Given the description of an element on the screen output the (x, y) to click on. 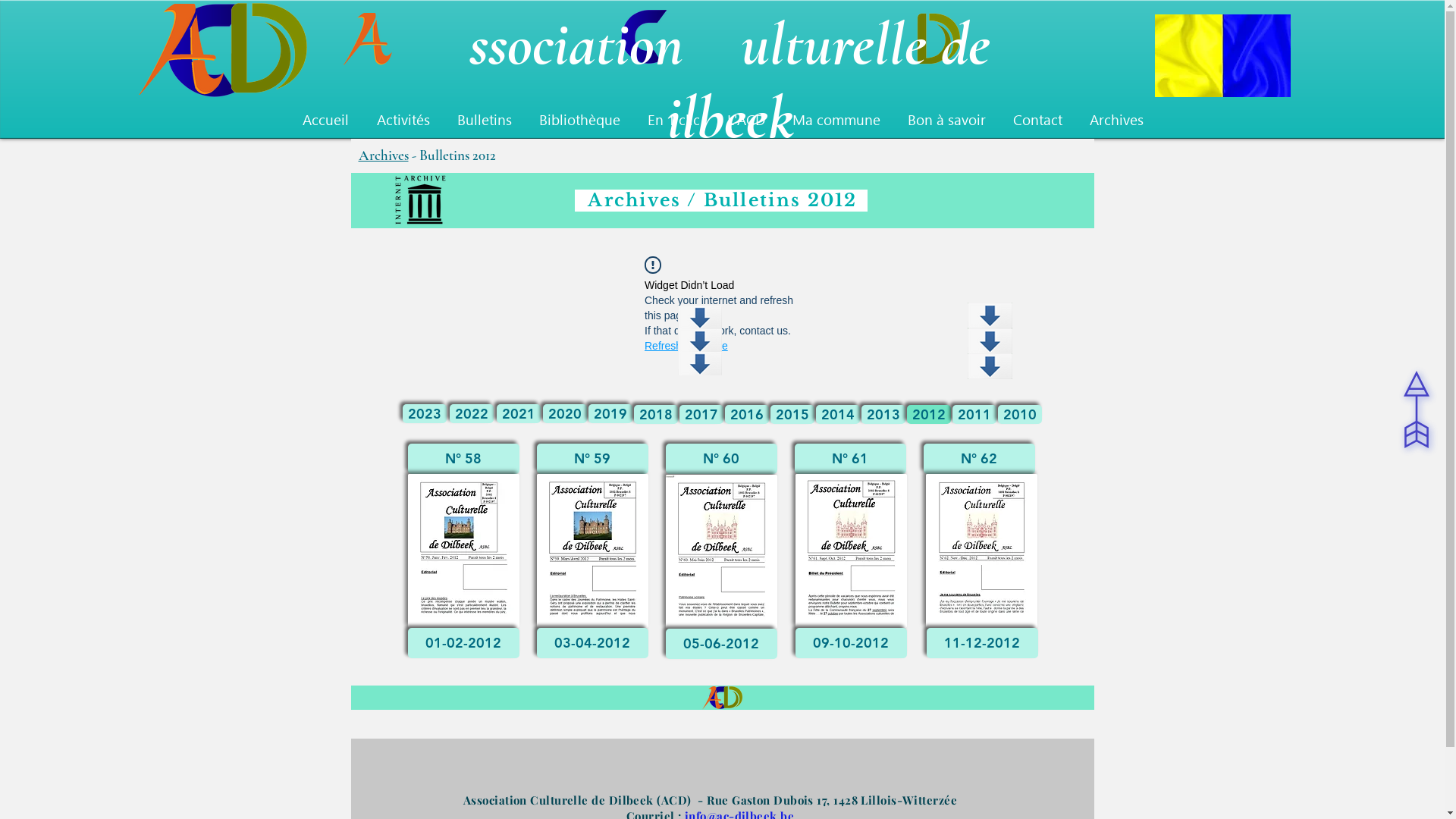
2020 Element type: text (564, 413)
2016 Element type: text (746, 413)
2022 Element type: text (470, 413)
2012 Element type: text (928, 413)
Accueil Element type: text (325, 119)
En 1 clic Element type: text (673, 119)
2023 Element type: text (423, 413)
Refresh this page Element type: text (686, 345)
Archives Element type: text (1115, 119)
2014 Element type: text (837, 413)
2013 Element type: text (883, 413)
2015 Element type: text (792, 413)
2018 Element type: text (655, 413)
2011 Element type: text (974, 413)
Embedded Content Element type: hover (288, 78)
2019 Element type: text (610, 413)
L'ACD Element type: text (745, 119)
2010 Element type: text (1019, 413)
Archives Element type: text (382, 154)
2021 Element type: text (517, 413)
Bulletins Element type: text (483, 119)
Contact Element type: text (1037, 119)
Bouton J'aime Facebook Element type: hover (718, 88)
2017 Element type: text (701, 413)
Ma commune Element type: text (835, 119)
